Given the description of an element on the screen output the (x, y) to click on. 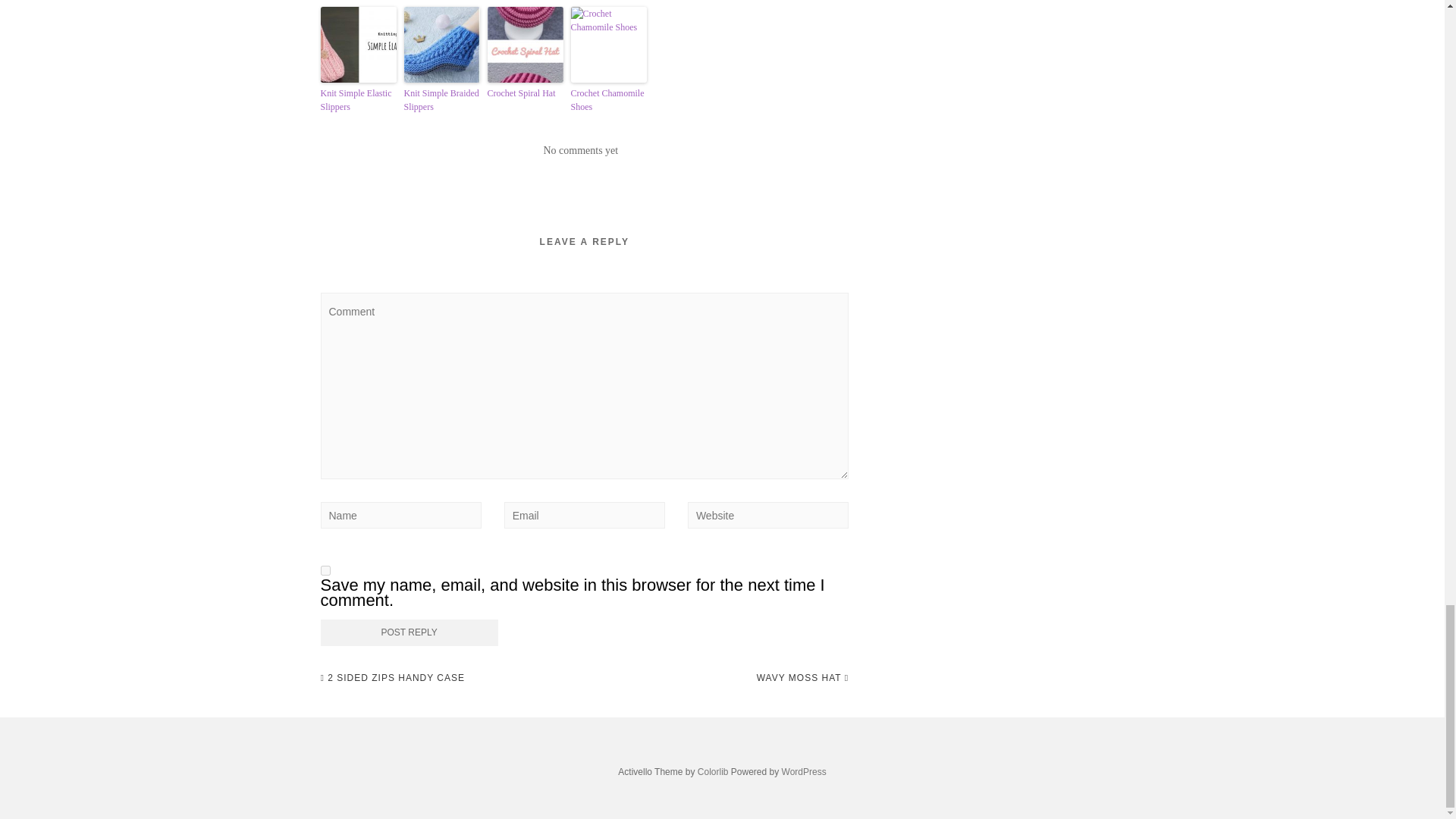
Crochet Chamomile Shoes (608, 99)
Knit Simple Braided Slippers (441, 99)
2 SIDED ZIPS HANDY CASE (392, 678)
yes (325, 570)
Crochet Spiral Hat (524, 92)
Post Reply (408, 632)
Post Reply (408, 632)
WAVY MOSS HAT (802, 678)
Knit Simple Elastic Slippers (358, 99)
No comments yet (580, 150)
